Given the description of an element on the screen output the (x, y) to click on. 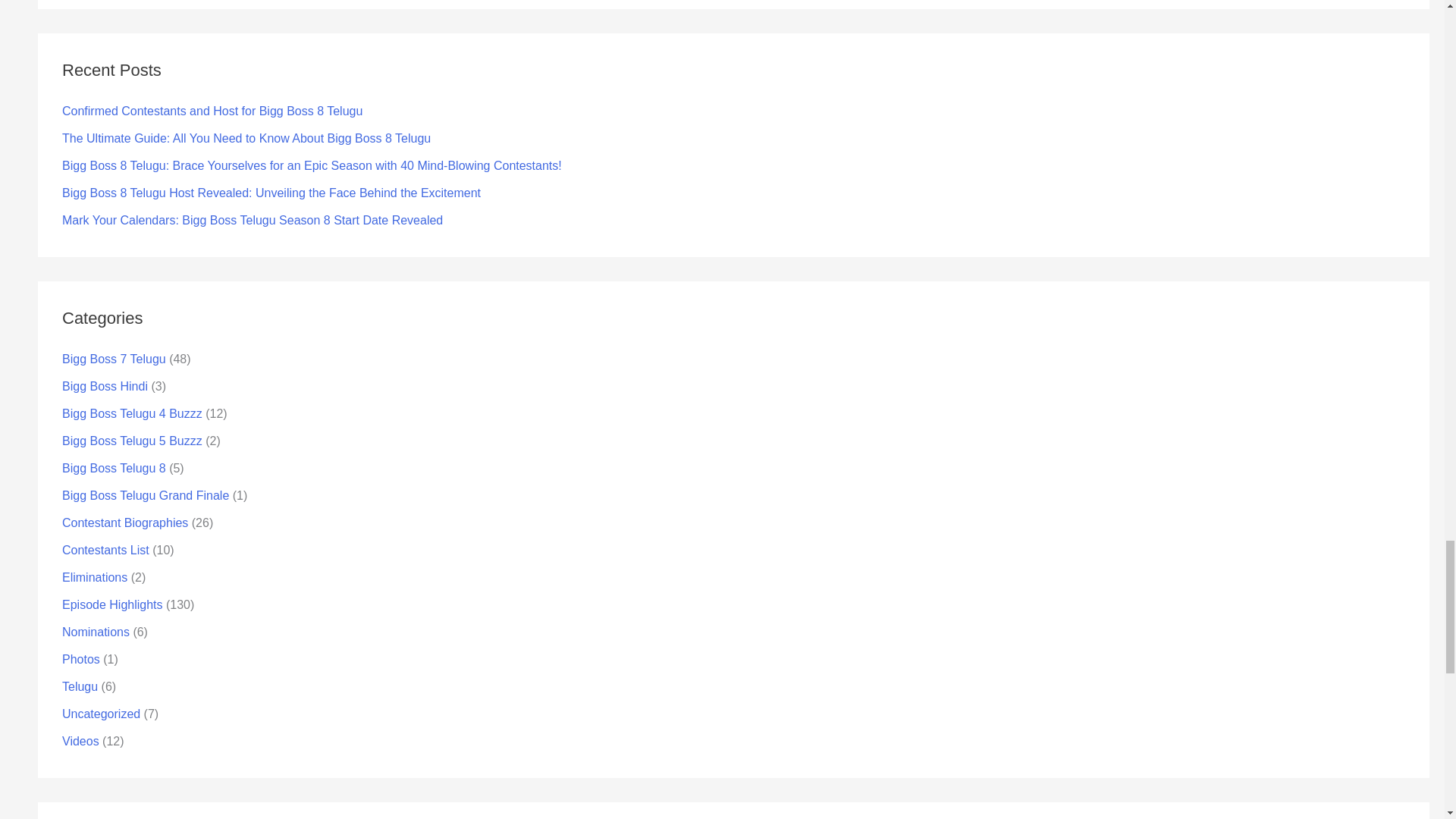
Confirmed Contestants and Host for Bigg Boss 8 Telugu (212, 110)
